Given the description of an element on the screen output the (x, y) to click on. 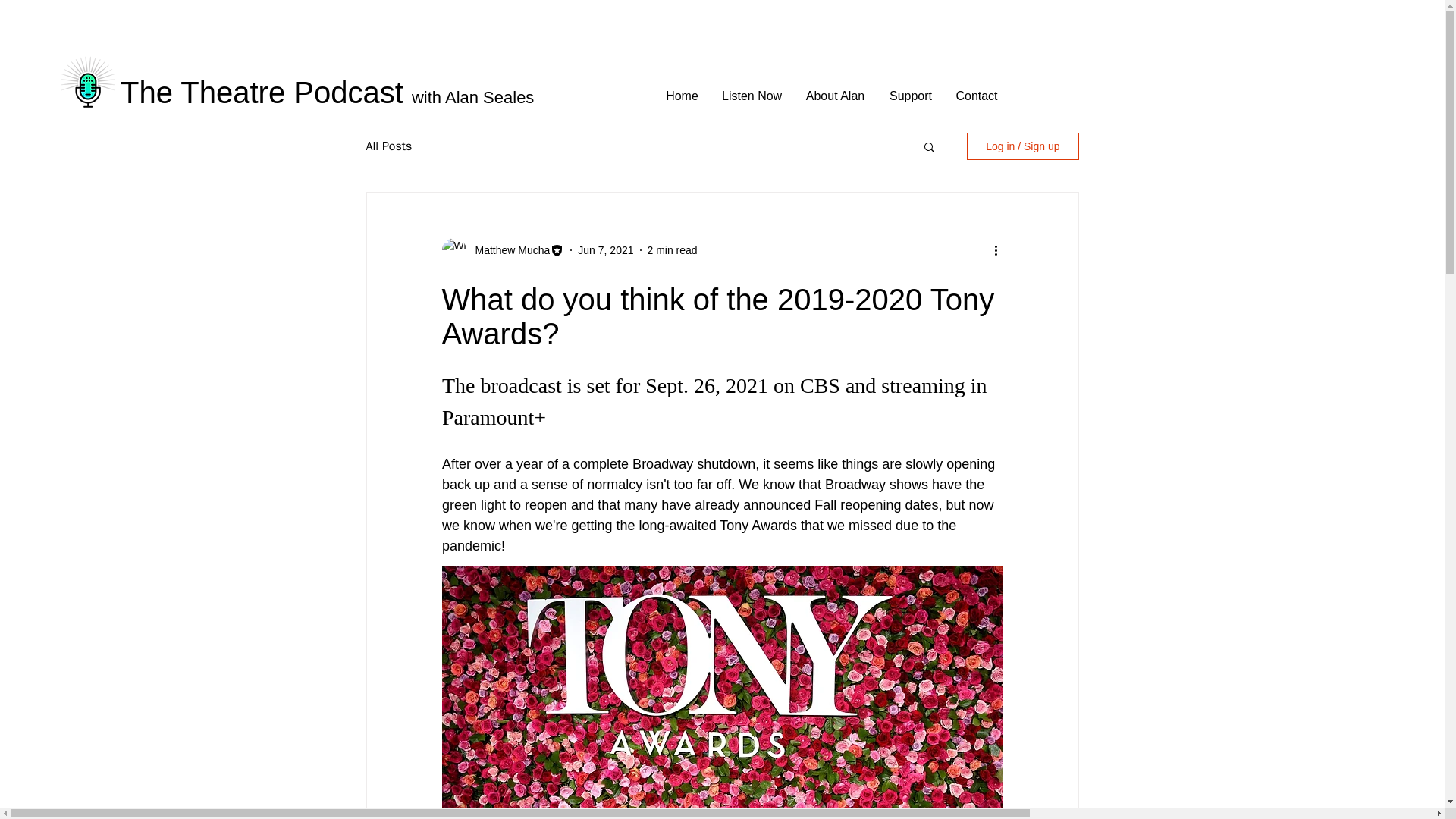
Contact (976, 95)
Home (681, 95)
2 min read (672, 250)
Support (910, 95)
Matthew Mucha (507, 250)
All Posts (388, 145)
About Alan (835, 95)
Listen Now (751, 95)
Jun 7, 2021 (605, 250)
